Given the description of an element on the screen output the (x, y) to click on. 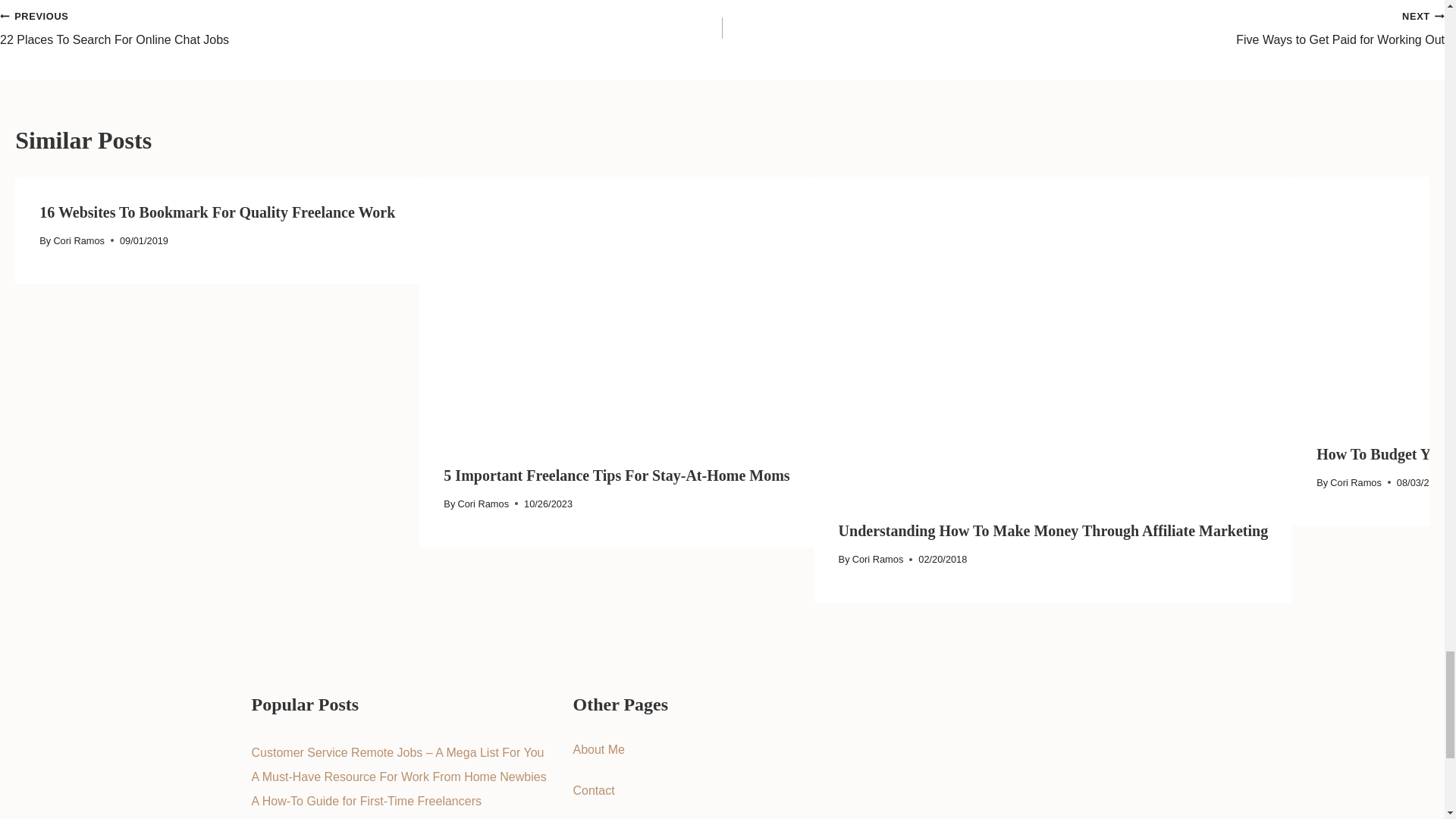
5 Important Freelance Tips For Stay-At-Home Moms (361, 27)
Cori Ramos (616, 475)
16 Websites To Bookmark For Quality Freelance Work (78, 240)
Cori Ramos (216, 211)
